Given the description of an element on the screen output the (x, y) to click on. 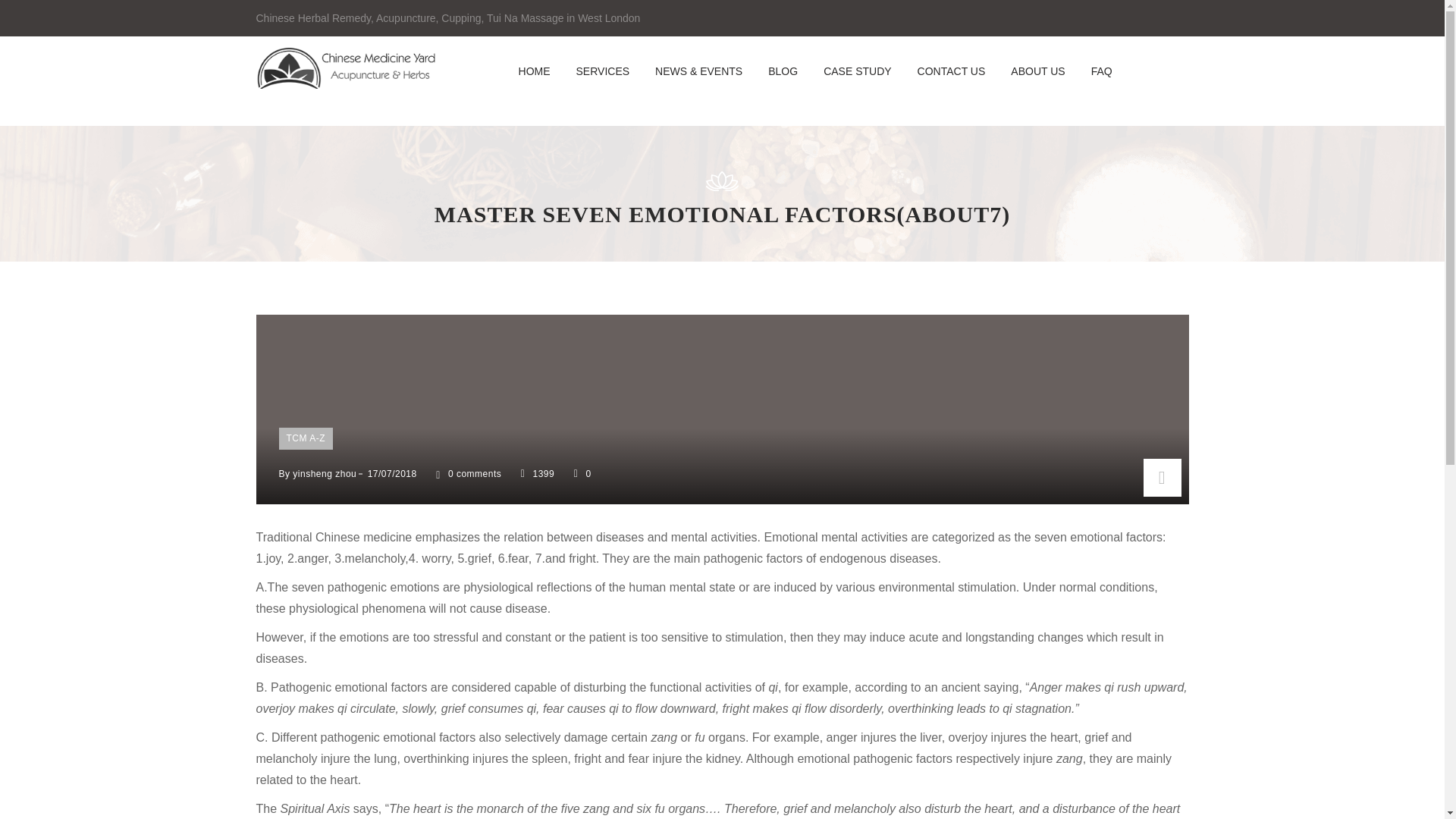
SERVICES (603, 71)
HOME (534, 71)
TCM A-Z (306, 438)
Traditional Chinese Medicine Yard (347, 83)
FAQ (1102, 71)
0 comments (465, 473)
Traditional Chinese Medicine Yard (347, 67)
BLOG (783, 71)
yinsheng zhou (324, 473)
CONTACT US (951, 71)
